Given the description of an element on the screen output the (x, y) to click on. 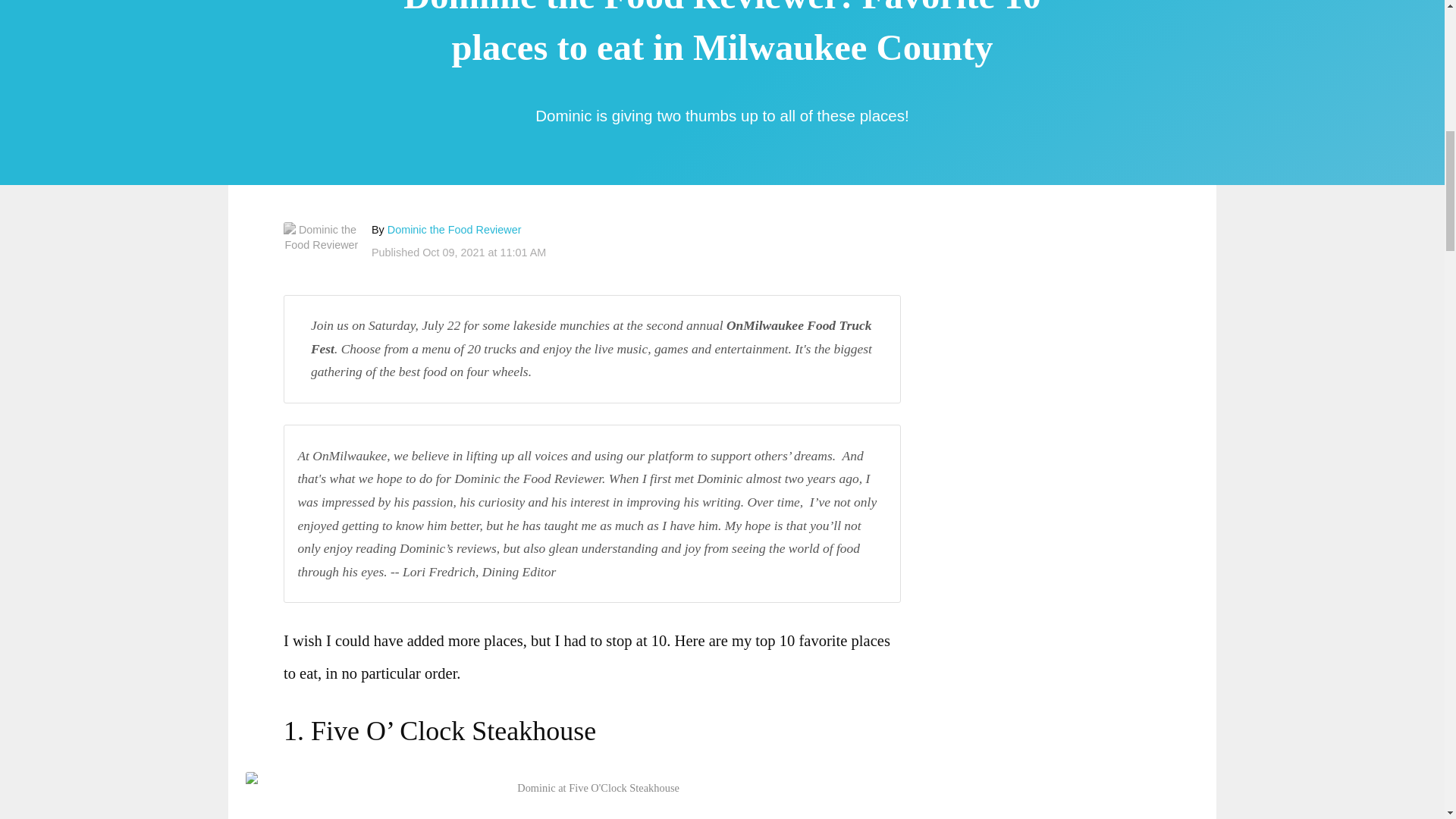
Dominic the Food Reviewer (454, 229)
OnMilwaukee Food Truck Fest (591, 336)
Dominic the Food Reviewer (321, 236)
More articles by Dominic the Food Reviewer (454, 229)
